Given the description of an element on the screen output the (x, y) to click on. 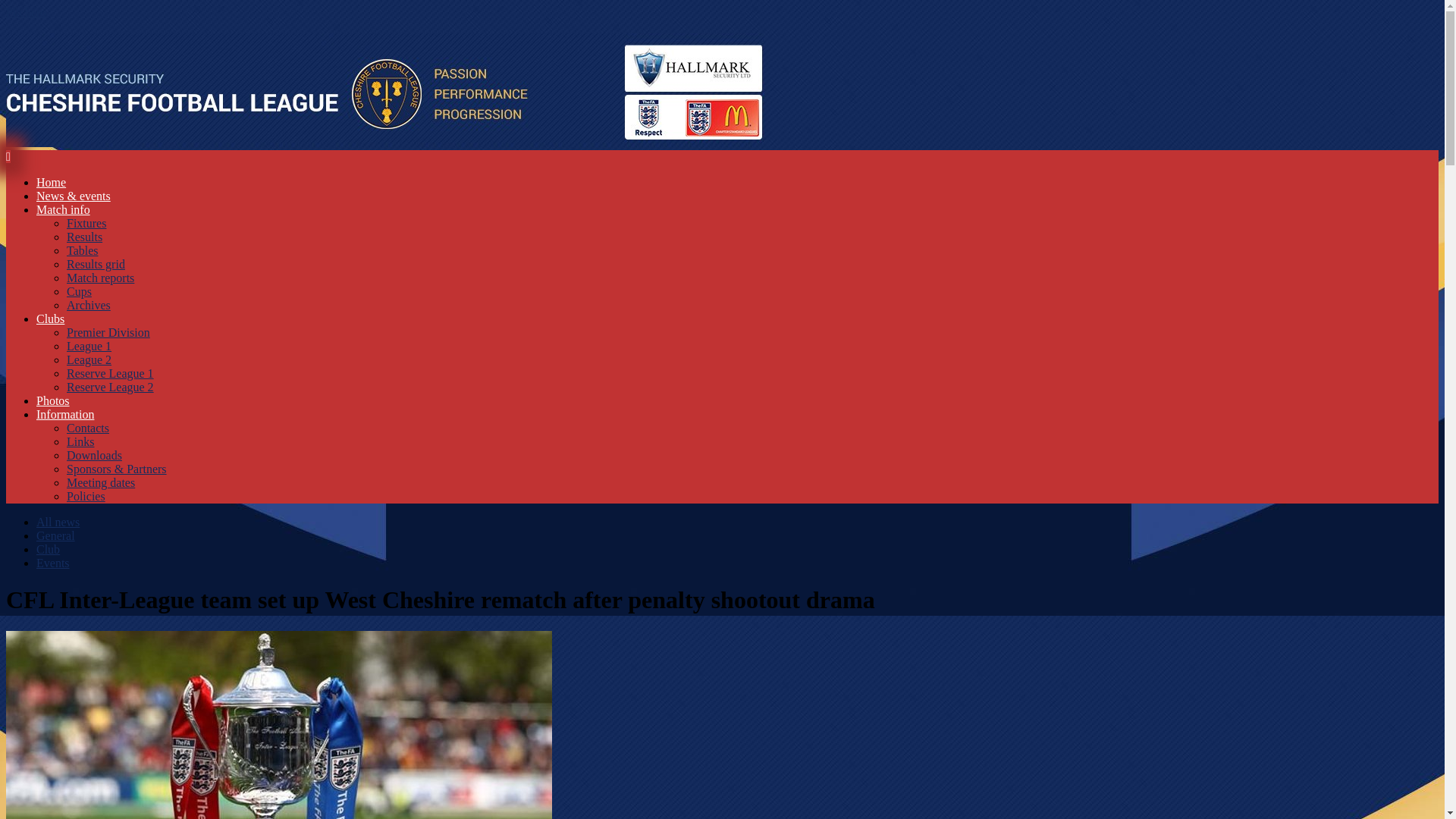
Match reports (99, 277)
Results grid (95, 264)
Links (80, 440)
League 2 (89, 359)
All news (58, 521)
Match info (63, 209)
Events (52, 562)
Reserve League 2 (110, 386)
Reserve League 1 (110, 373)
Premier Division (107, 332)
Club (47, 549)
Policies (85, 495)
Cups (78, 291)
Home (50, 182)
Downloads (94, 454)
